Given the description of an element on the screen output the (x, y) to click on. 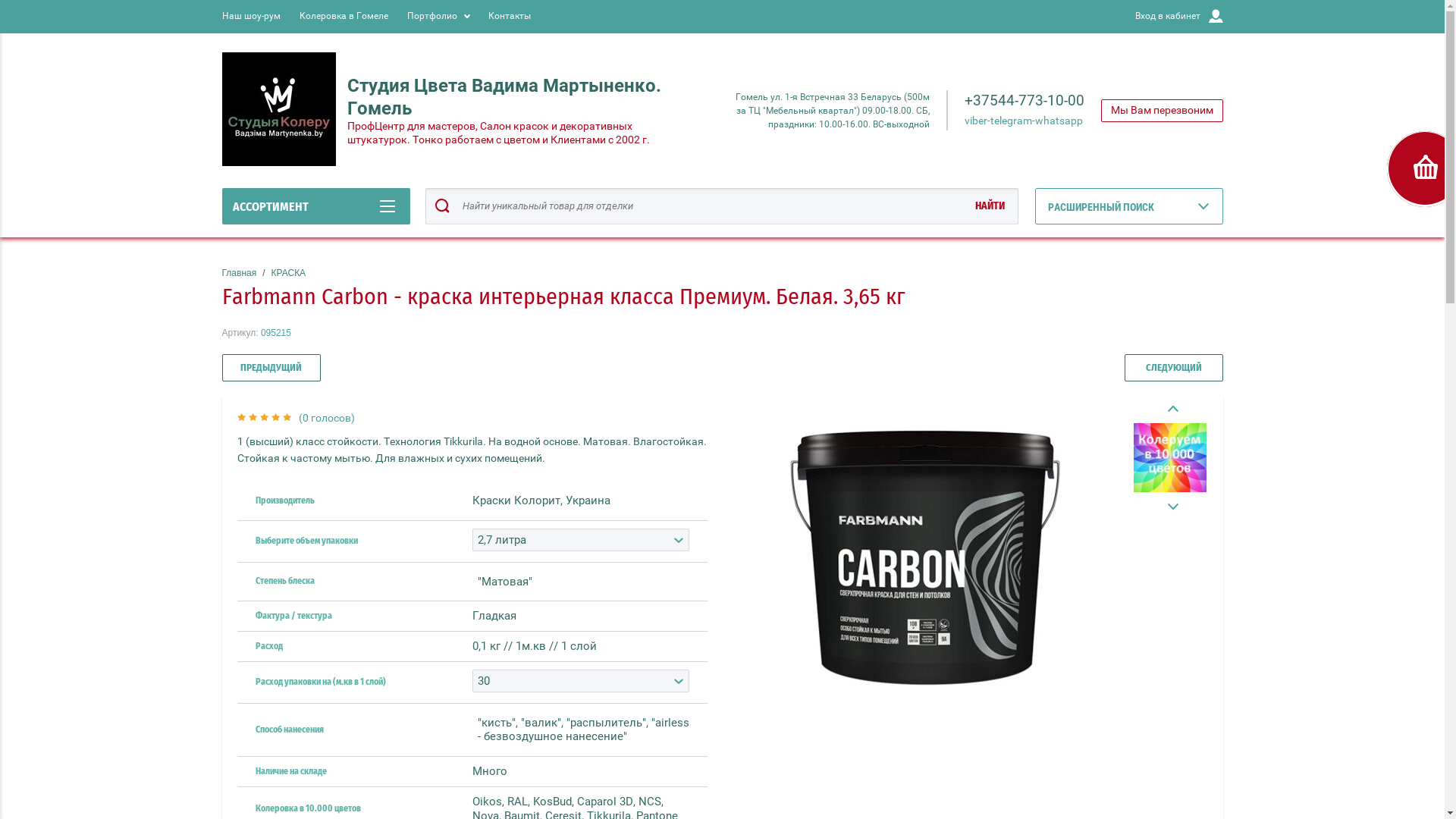
Prev Element type: text (1169, 408)
Next Element type: text (1169, 506)
+37544-773-10-00 Element type: text (1024, 100)
